Given the description of an element on the screen output the (x, y) to click on. 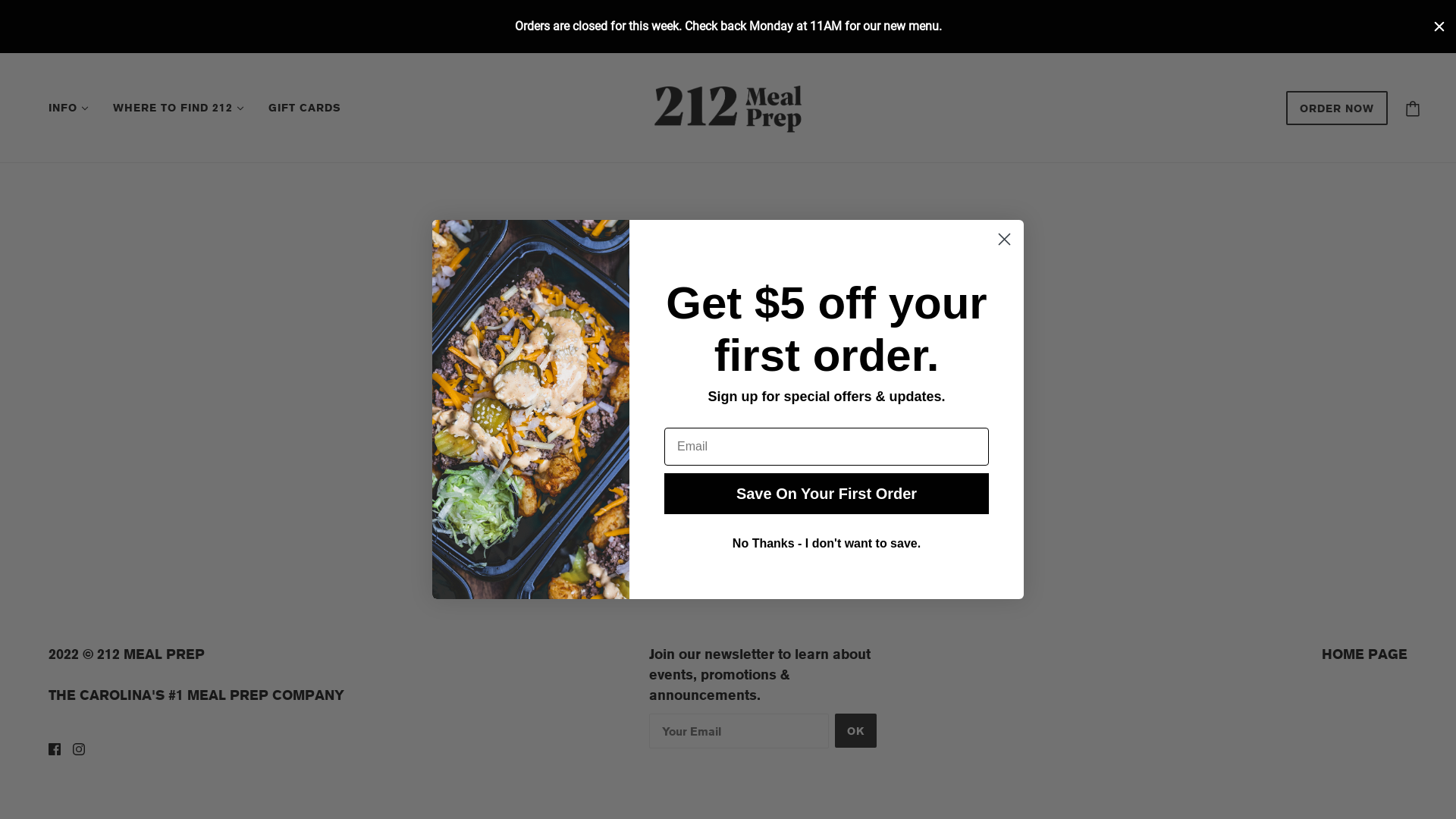
212meals Element type: hover (727, 105)
WHERE TO FIND 212 Element type: text (178, 107)
OK Element type: text (855, 730)
INFO Element type: text (68, 107)
HOME PAGE Element type: text (1364, 652)
Submit Element type: text (35, 17)
ORDER NOW Element type: text (1336, 114)
No Thanks - I don't want to save. Element type: text (826, 543)
Save On Your First Order Element type: text (826, 493)
GIFT CARDS Element type: text (304, 107)
Close dialog 1 Element type: text (1004, 238)
